Given the description of an element on the screen output the (x, y) to click on. 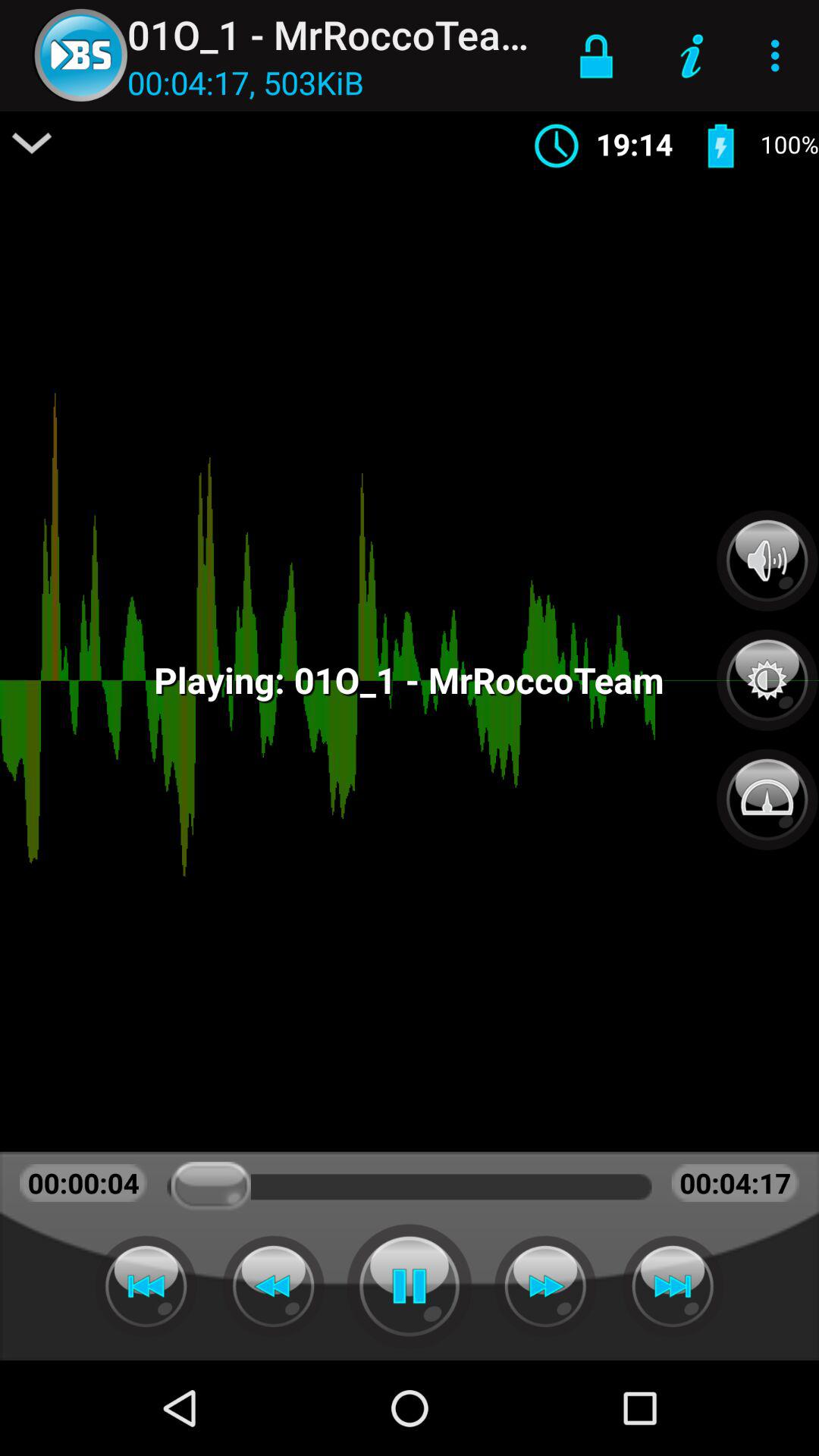
go to forward bar (145, 1286)
